Given the description of an element on the screen output the (x, y) to click on. 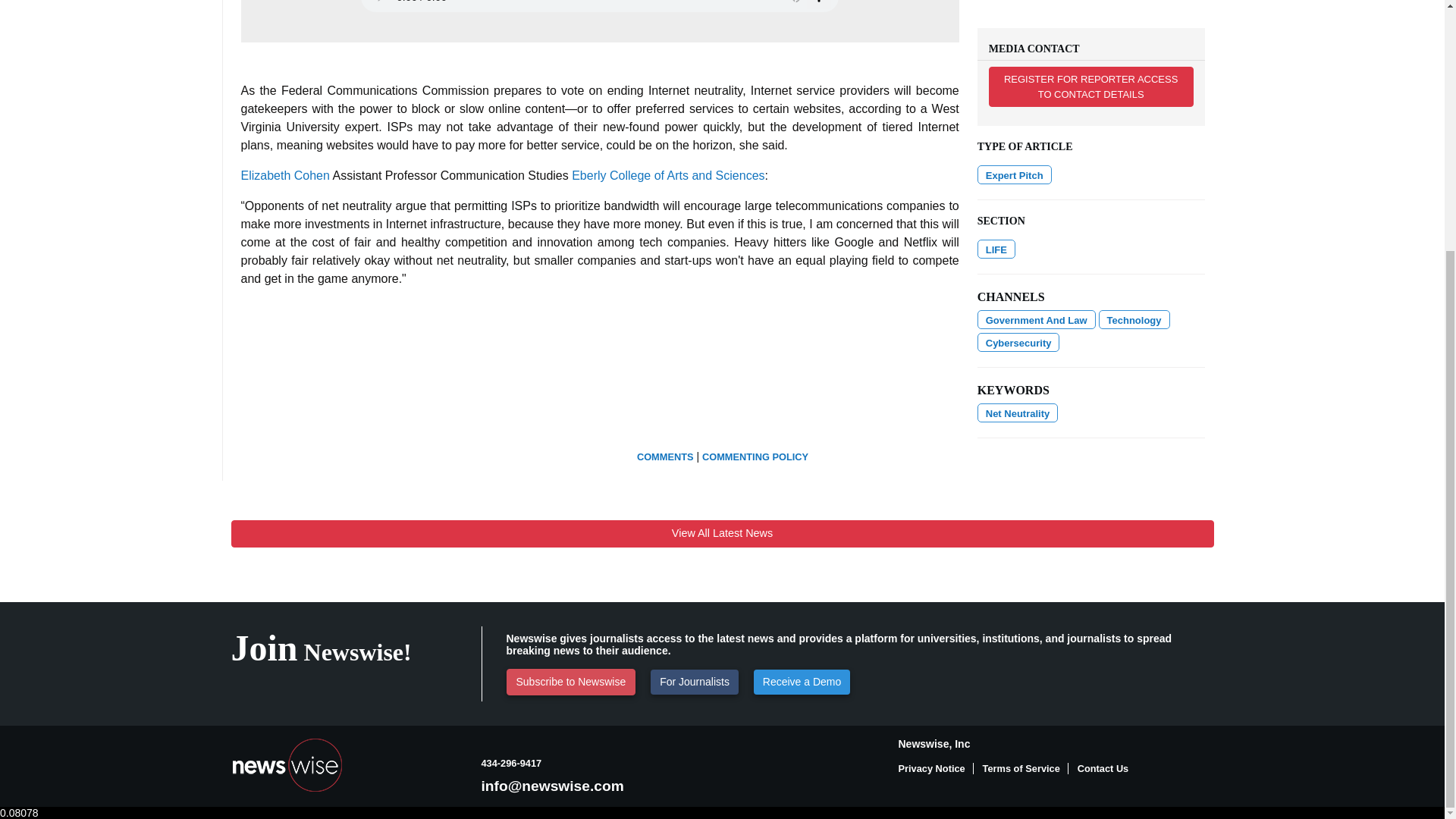
Expert Pitch (1013, 174)
Show all articles in this channel (1017, 342)
Show all articles in this channel (995, 248)
Show all articles in this channel (1036, 319)
Show all articles in this channel (1134, 319)
